Given the description of an element on the screen output the (x, y) to click on. 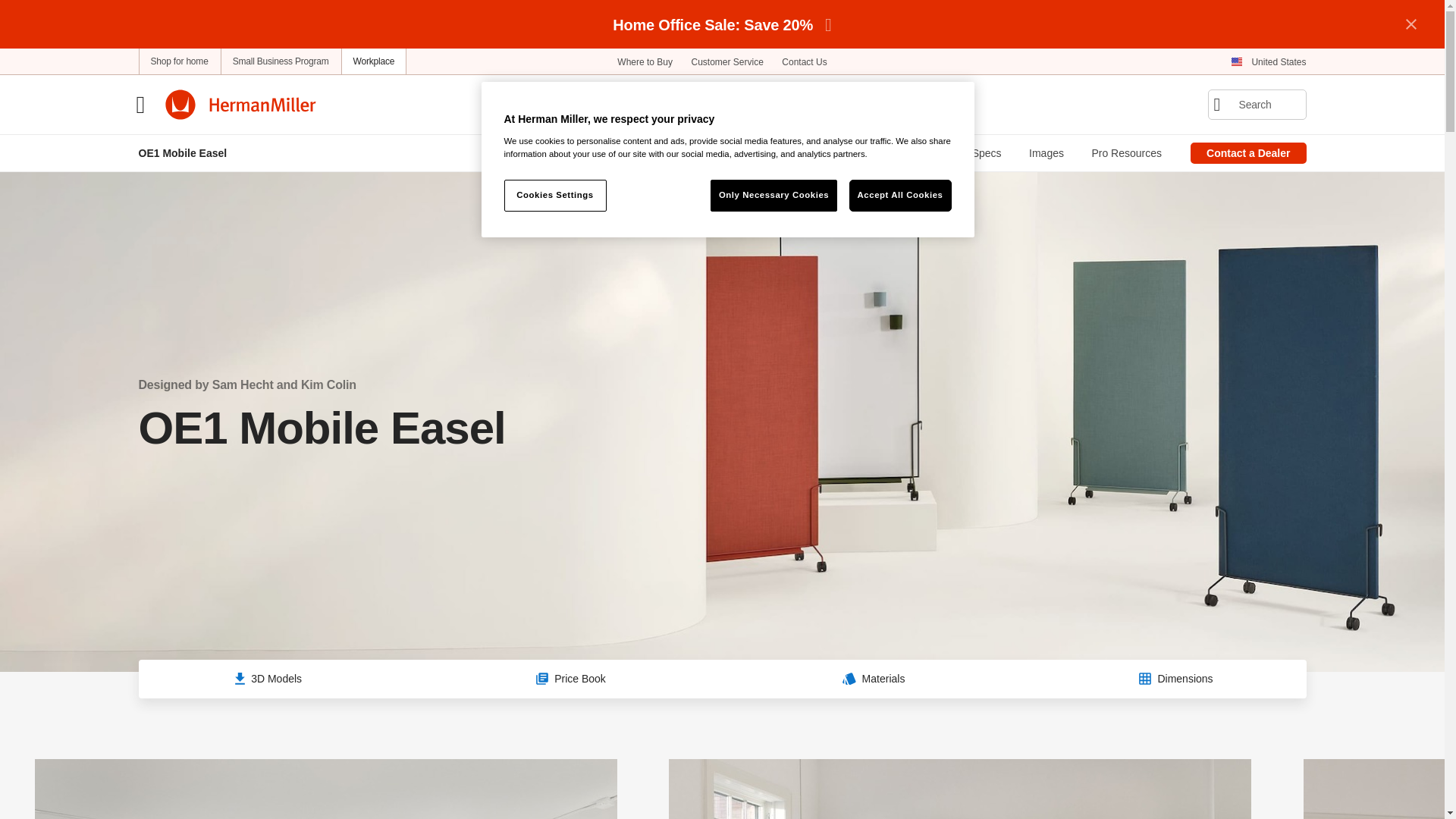
Knowledge (836, 103)
Herman Miller (240, 104)
United States (1268, 60)
Workplace (374, 61)
United States (1268, 60)
Shop for home (179, 61)
Contact Us (804, 61)
United-States.png (1236, 61)
Stories (922, 103)
Products (555, 103)
Solutions (642, 103)
Where to Buy (644, 61)
Resources (737, 103)
Small Business Program (280, 61)
Customer Service (726, 61)
